Given the description of an element on the screen output the (x, y) to click on. 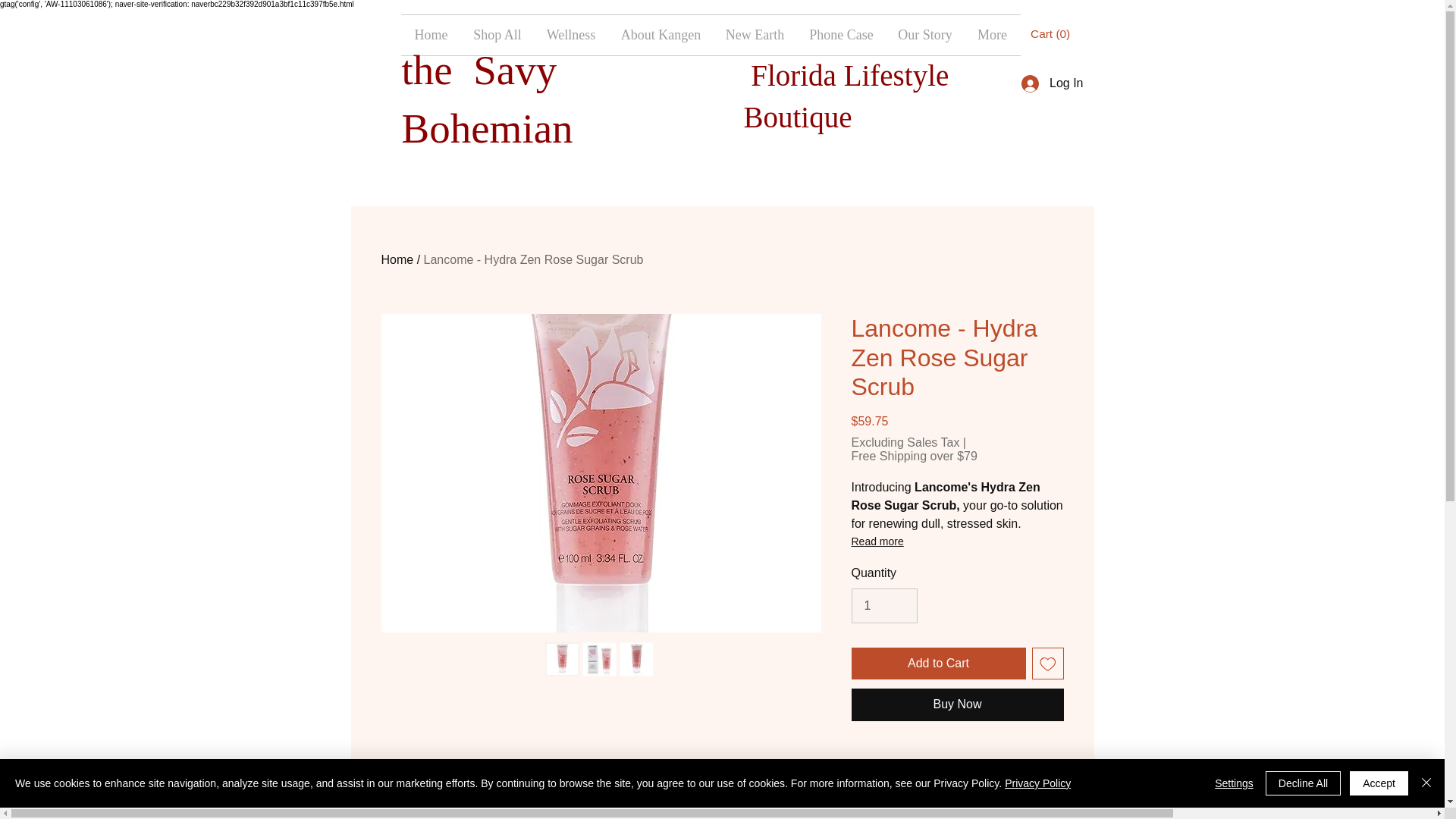
Lancome - Hydra Zen Rose Sugar Scrub (533, 259)
Phone Case (840, 35)
Shop All (496, 35)
1 (883, 605)
Wellness (571, 35)
Read more (956, 541)
About Kangen (660, 35)
Add to Cart (937, 663)
New Earth (754, 35)
Home (430, 35)
Home (396, 259)
Our Story (924, 35)
Log In (1051, 82)
